Given the description of an element on the screen output the (x, y) to click on. 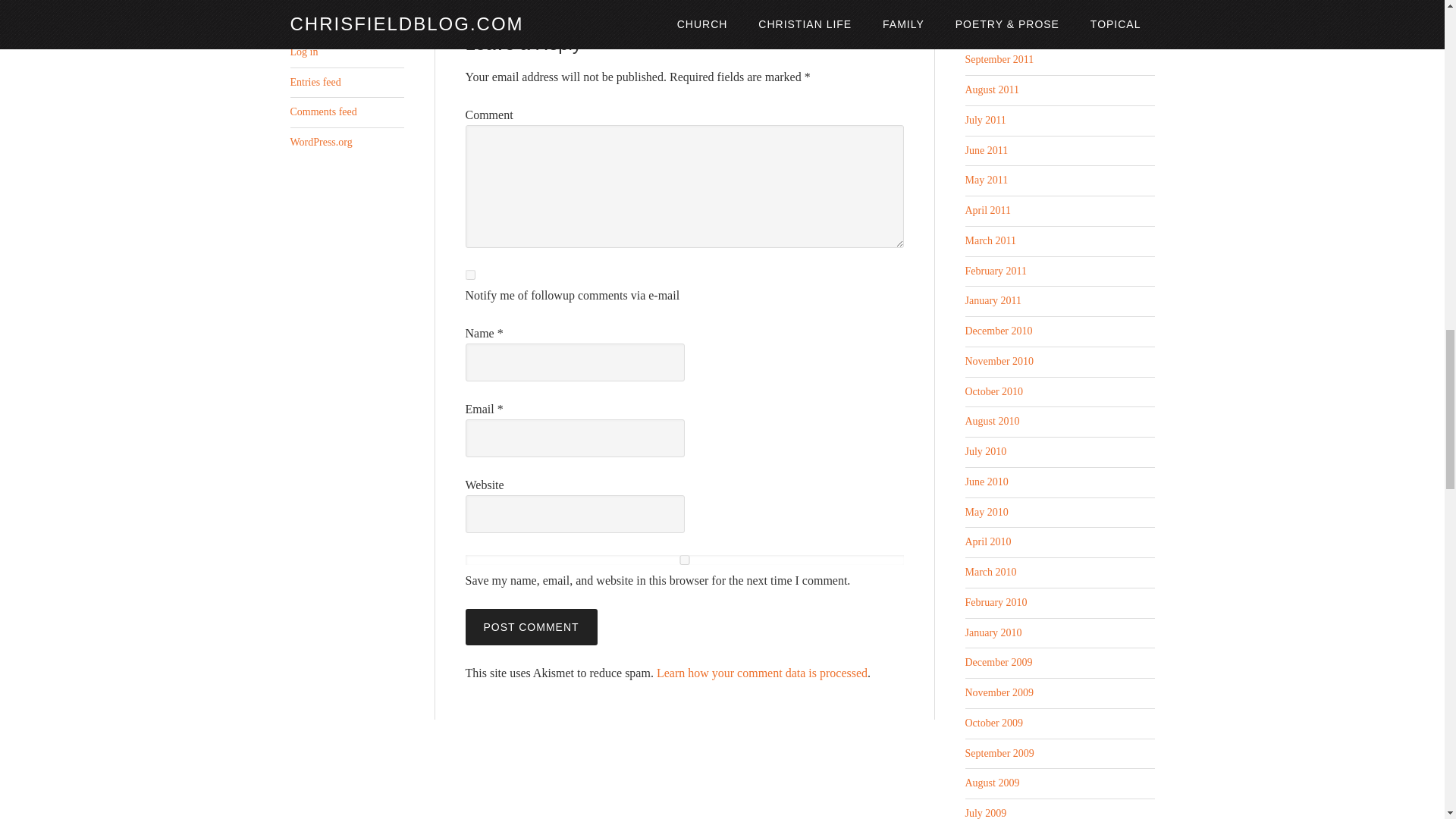
Post Comment (530, 627)
subscribe (470, 275)
yes (684, 560)
Post Comment (530, 627)
Learn how your comment data is processed (761, 672)
